Given the description of an element on the screen output the (x, y) to click on. 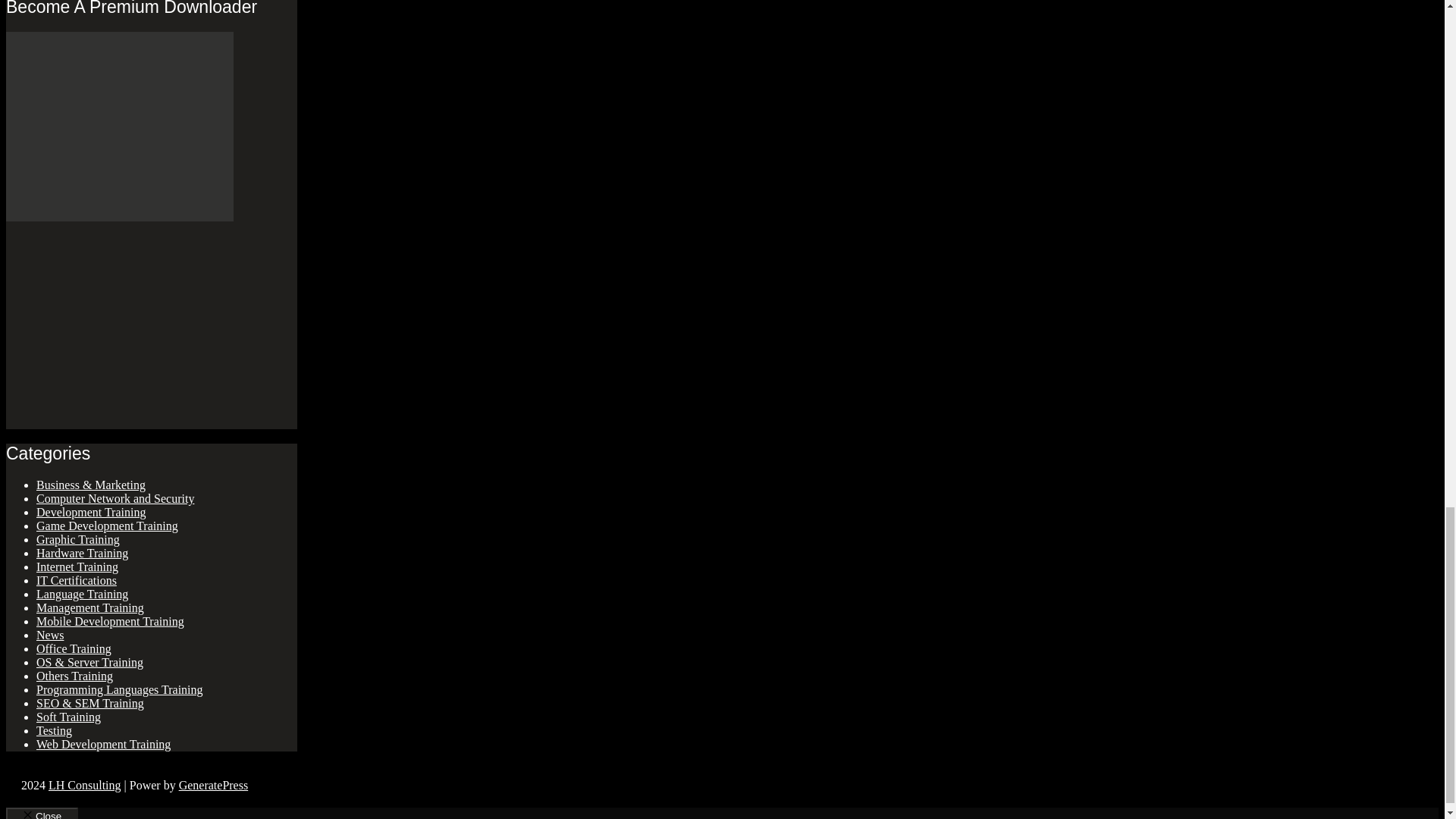
Game Development Training (106, 525)
News (50, 634)
Programming Languages Training (119, 689)
Office Training (74, 648)
Others Training (74, 675)
Graphic Training (77, 539)
Management Training (90, 607)
LH Consulting (84, 784)
Testing (53, 730)
Language Training (82, 594)
